Given the description of an element on the screen output the (x, y) to click on. 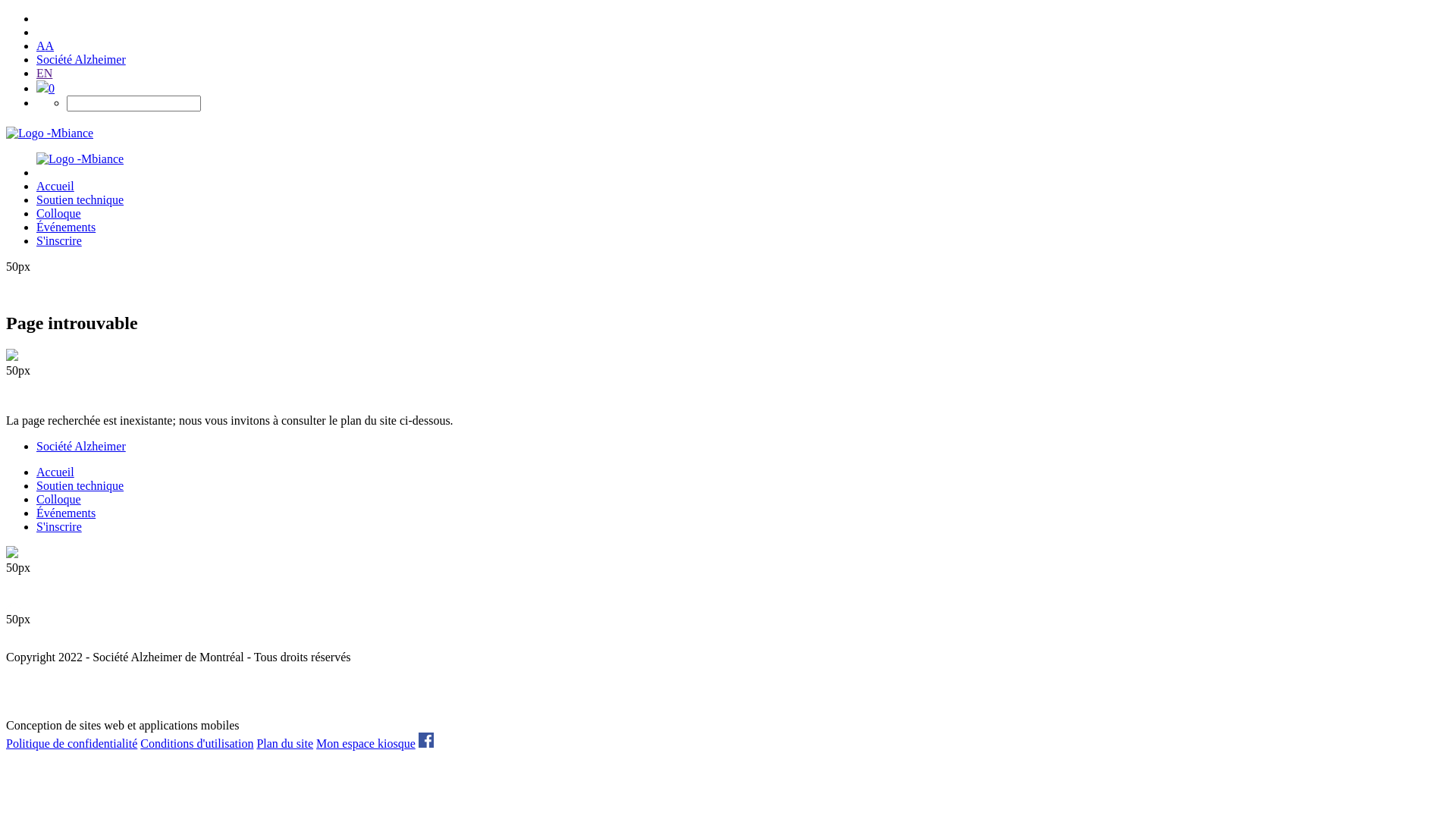
Accueil Element type: text (55, 185)
Colloque Element type: text (58, 498)
EN Element type: text (44, 72)
Plan du site Element type: text (284, 743)
mbiance Element type: hover (411, 696)
S'inscrire Element type: text (58, 526)
Mon espace kiosque Element type: text (365, 743)
Soutien technique Element type: text (79, 485)
S'inscrire Element type: text (58, 240)
Colloque Element type: text (58, 213)
facebook Element type: hover (425, 739)
0 Element type: text (45, 87)
Soutien technique Element type: text (79, 199)
AA Element type: text (44, 45)
Conditions d'utilisation Element type: text (196, 743)
Accueil Element type: text (55, 471)
